Given the description of an element on the screen output the (x, y) to click on. 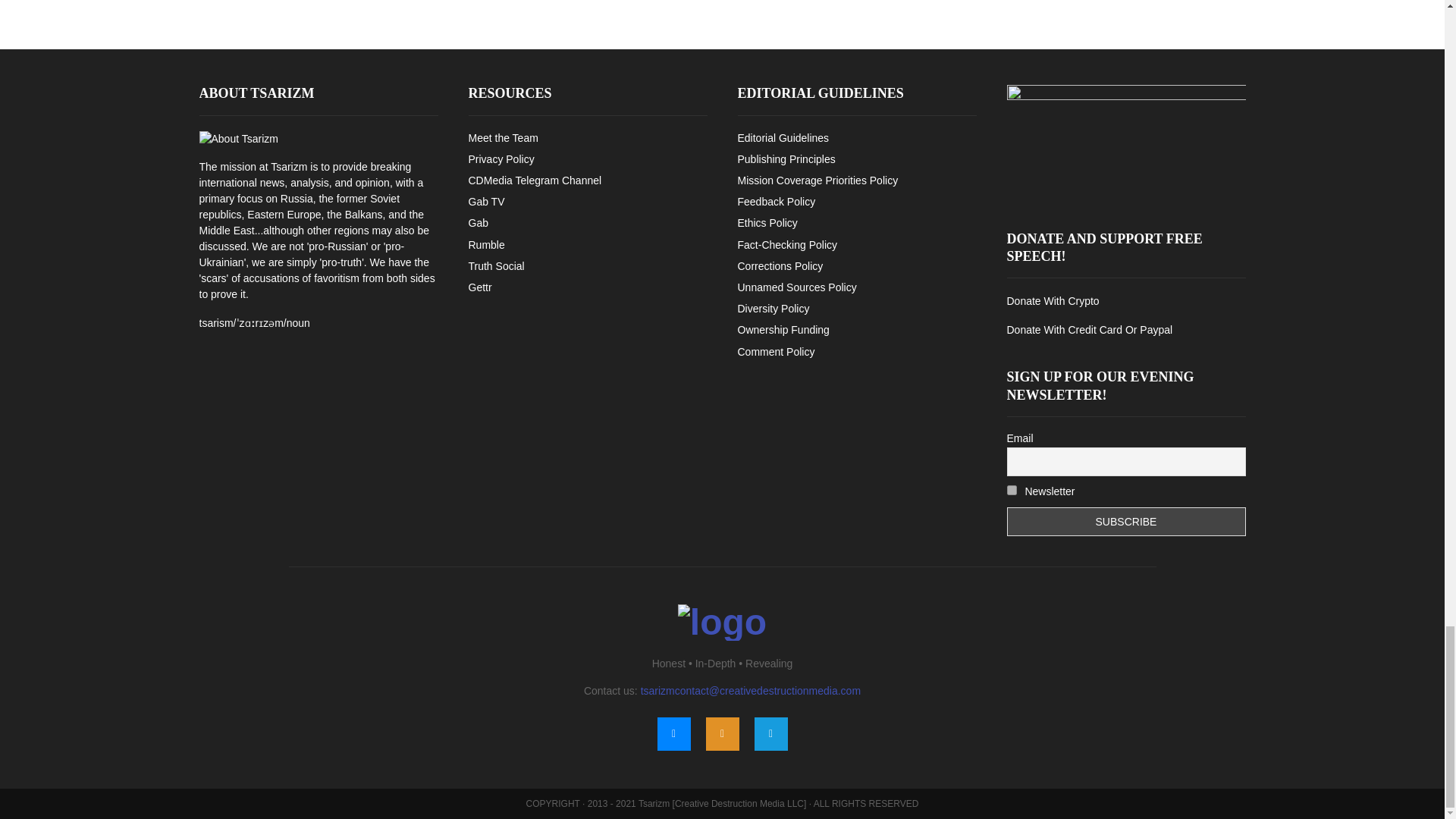
Subscribe (1126, 521)
1 (1011, 490)
